Given the description of an element on the screen output the (x, y) to click on. 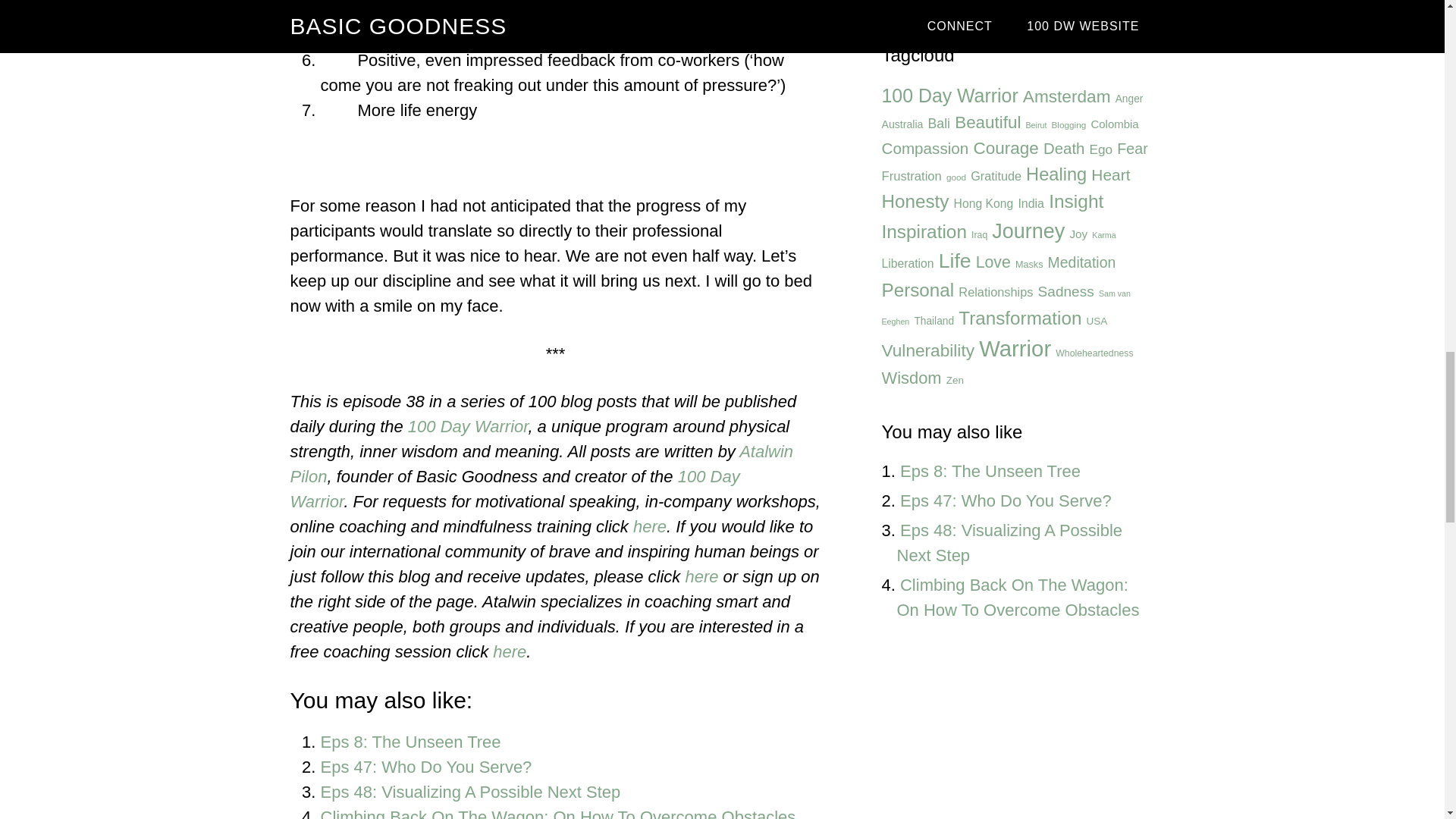
I would like to book a free session (509, 651)
About Atalwin (541, 464)
100 Day Warrior (948, 95)
100 Day Warrior (467, 425)
here (649, 526)
here (700, 576)
100 Day Warrior (514, 488)
100 Day Warrior (467, 425)
here (509, 651)
100 Day Warrior (514, 488)
